Given the description of an element on the screen output the (x, y) to click on. 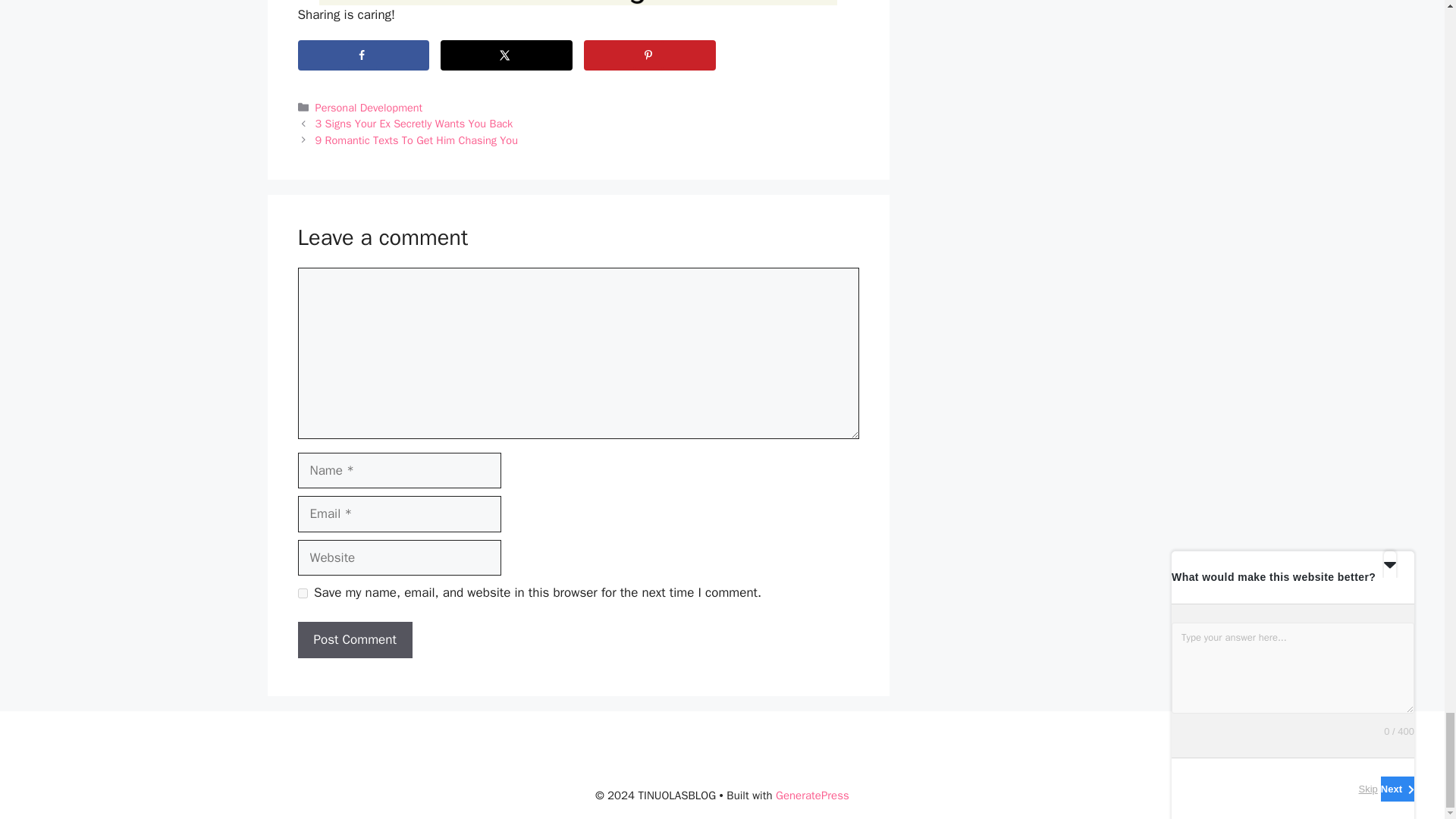
yes (302, 593)
Personal Development (369, 107)
Share on X (506, 55)
3 Signs Your Ex Secretly Wants You Back (414, 123)
Share on Facebook (363, 55)
9 Romantic Texts To Get Him Chasing You (416, 140)
Post Comment (354, 639)
Post Comment (354, 639)
GeneratePress (812, 795)
